Given the description of an element on the screen output the (x, y) to click on. 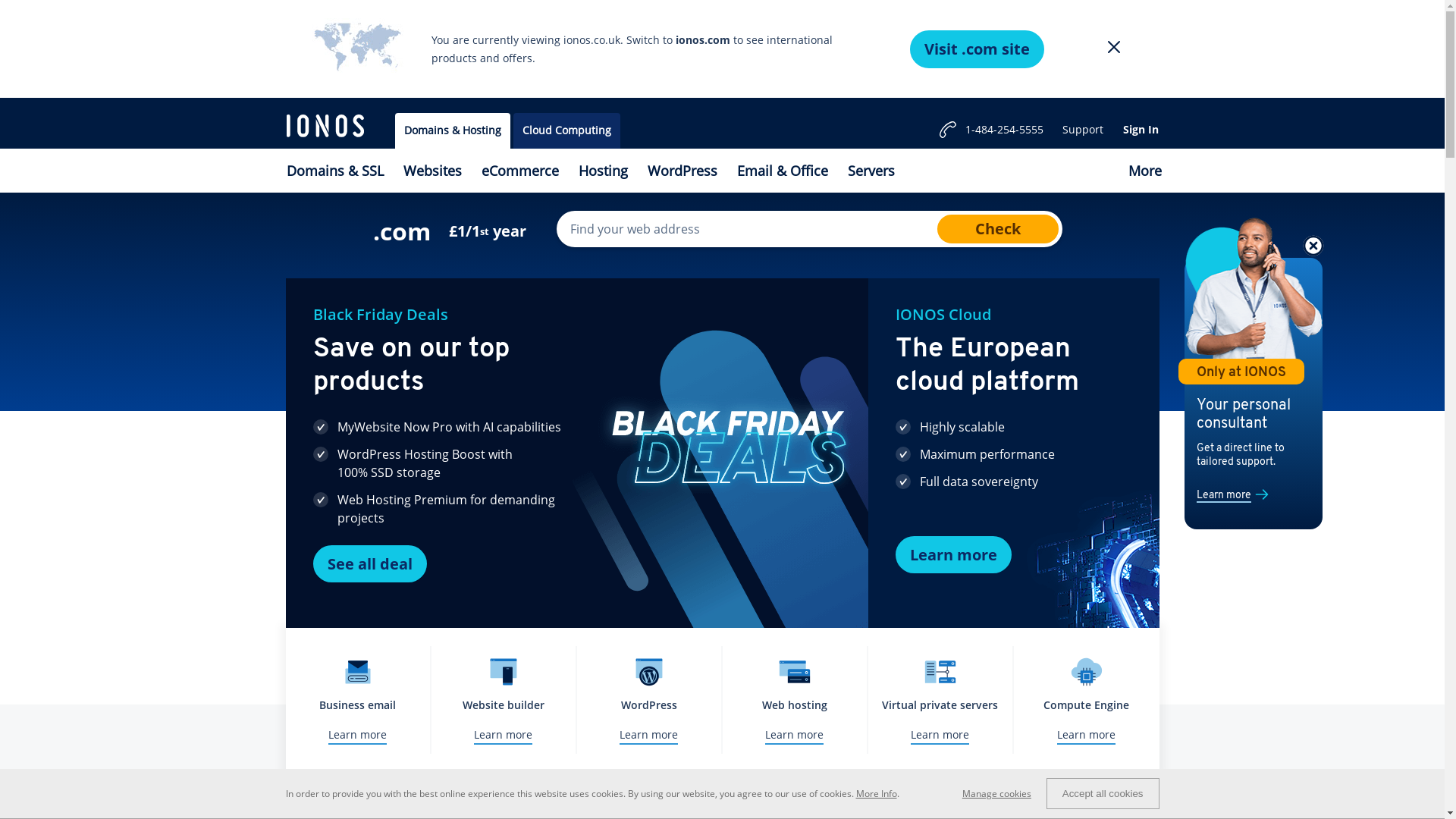
Accept all cookies Element type: text (1102, 793)
WordPress Element type: text (681, 170)
Sign In Element type: text (1140, 129)
More Element type: text (1143, 170)
Websites Element type: text (431, 170)
Visit .com site Element type: text (977, 49)
See all deal Element type: text (369, 563)
Check Element type: text (997, 228)
Email & Office Element type: text (781, 170)
Domains & SSL Element type: text (334, 170)
Learn more Element type: text (1223, 495)
Learn more Element type: text (952, 554)
Support Element type: text (1082, 129)
Servers Element type: text (870, 170)
Cloud Computing Element type: text (565, 130)
Hosting Element type: text (602, 170)
Manage cookies Element type: text (1004, 793)
More Info Element type: text (875, 793)
eCommerce Element type: text (519, 170)
